Given the description of an element on the screen output the (x, y) to click on. 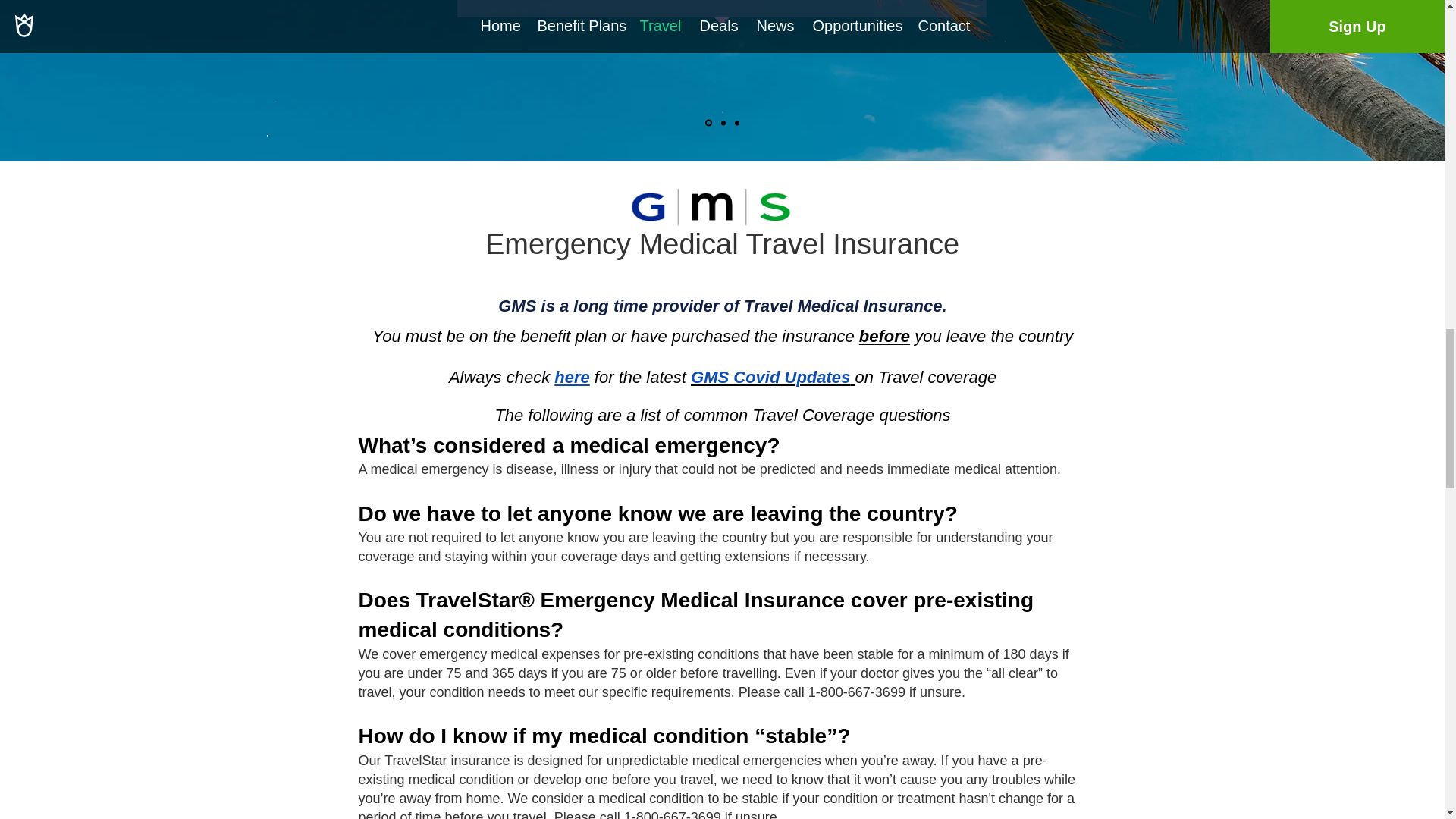
1-800-667-3699 (672, 814)
1-800-667-3699 (856, 692)
here (571, 376)
GMS Covid Updates (772, 376)
